Given the description of an element on the screen output the (x, y) to click on. 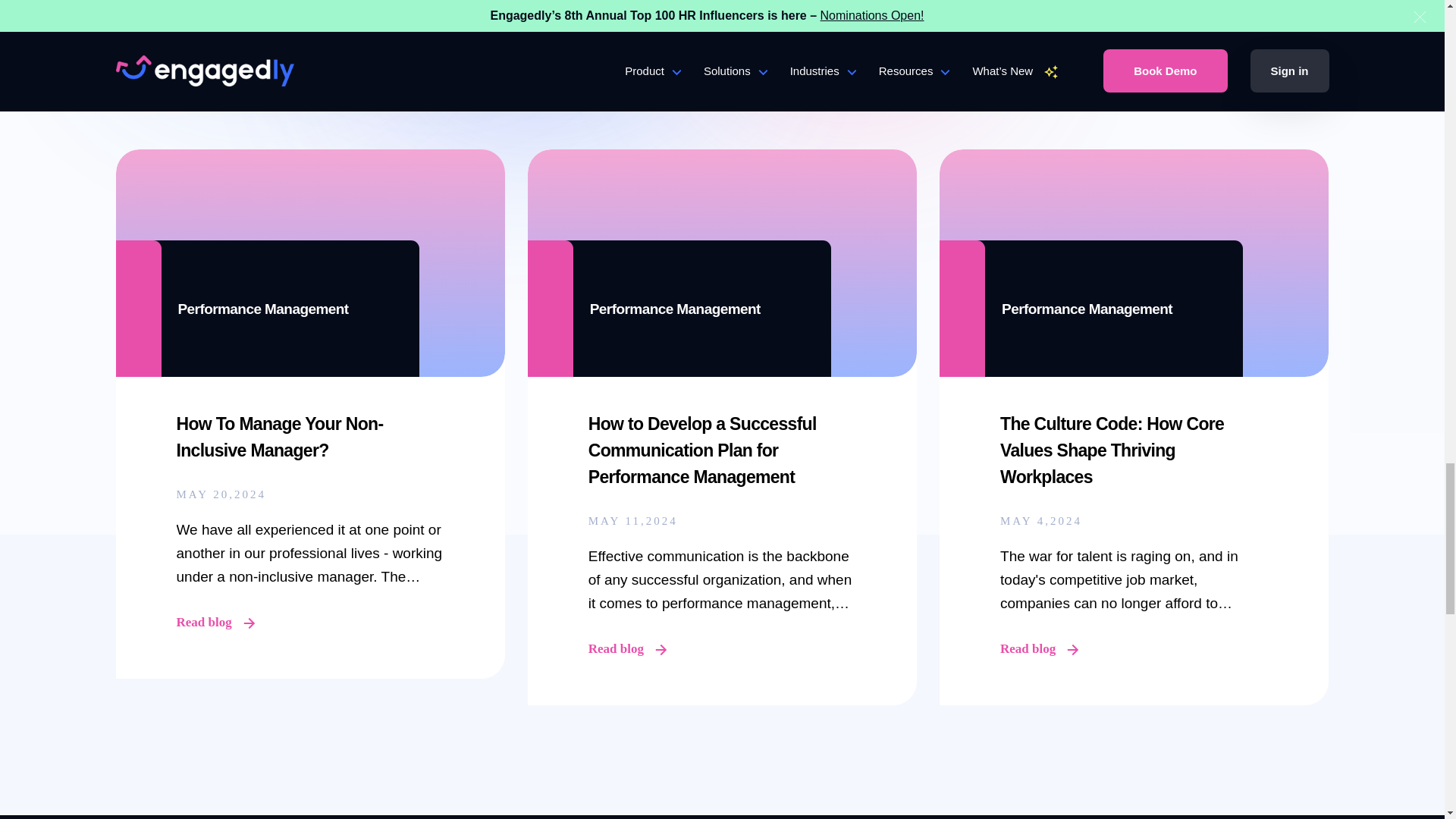
Tweet (800, 11)
Share on Facebook (841, 11)
Share on LinkedIn (884, 11)
